Given the description of an element on the screen output the (x, y) to click on. 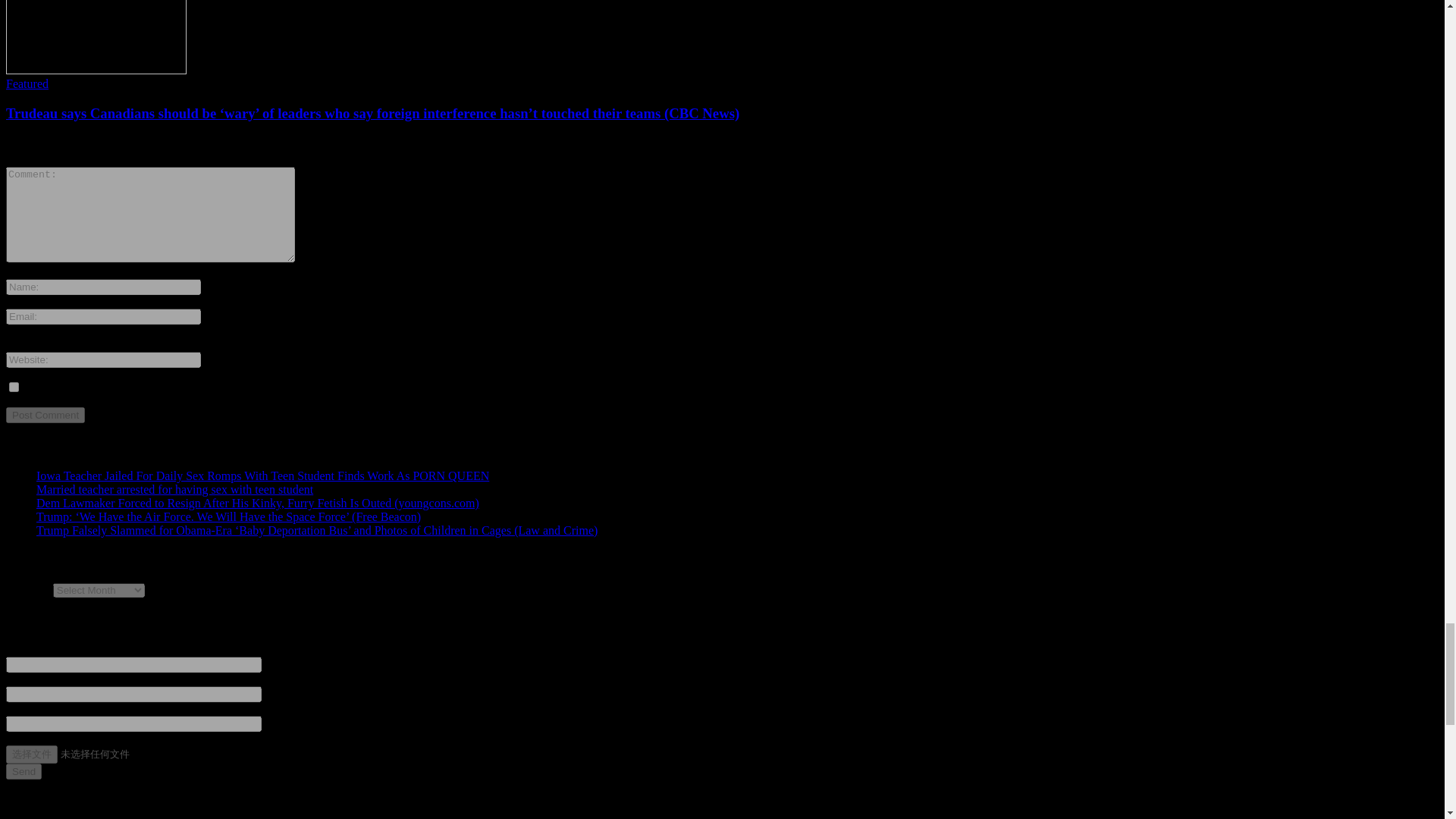
yes (13, 387)
Post Comment (44, 415)
